Given the description of an element on the screen output the (x, y) to click on. 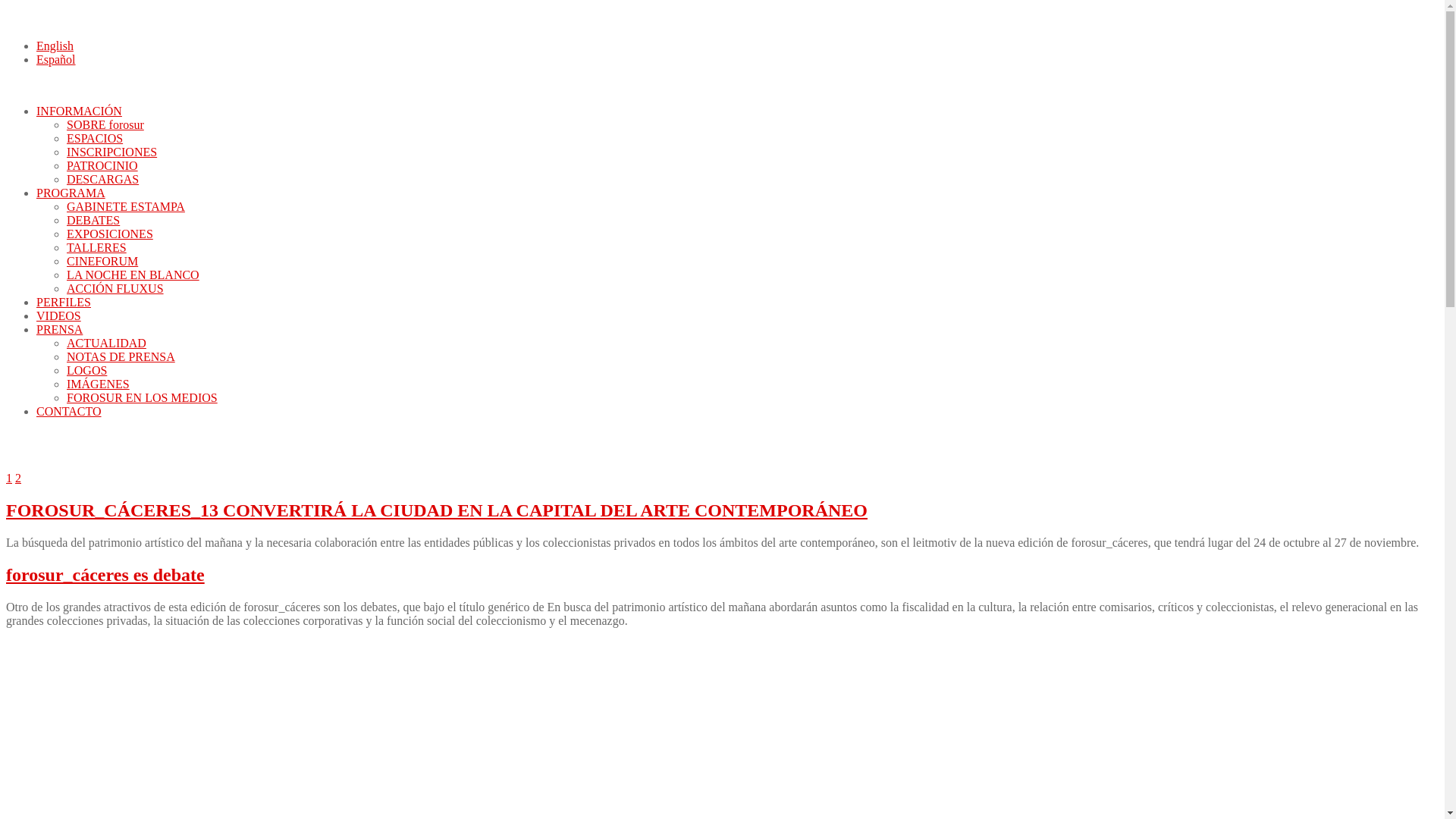
Inicio Element type: hover (119, 464)
GABINETE ESTAMPA Element type: text (125, 206)
LOGOS Element type: text (86, 370)
DESCARGAS Element type: text (102, 178)
1 Element type: text (9, 477)
PROGRAMA Element type: text (70, 192)
2 Element type: text (18, 477)
DEBATES Element type: text (92, 219)
ACTUALIDAD Element type: text (106, 342)
INSCRIPCIONES Element type: text (111, 151)
NOTAS DE PRENSA Element type: text (120, 356)
VIDEOS Element type: text (58, 315)
PATROCINIO Element type: text (102, 165)
CONTACTO Element type: text (68, 410)
CINEFORUM Element type: text (102, 260)
English Element type: text (54, 45)
EXPOSICIONES Element type: text (109, 233)
TALLERES Element type: text (96, 247)
PRENSA Element type: text (59, 329)
LA NOCHE EN BLANCO Element type: text (132, 274)
FOROSUR EN LOS MEDIOS Element type: text (141, 397)
SOBRE forosur Element type: text (105, 124)
ESPACIOS Element type: text (94, 137)
PERFILES Element type: text (63, 301)
